Given the description of an element on the screen output the (x, y) to click on. 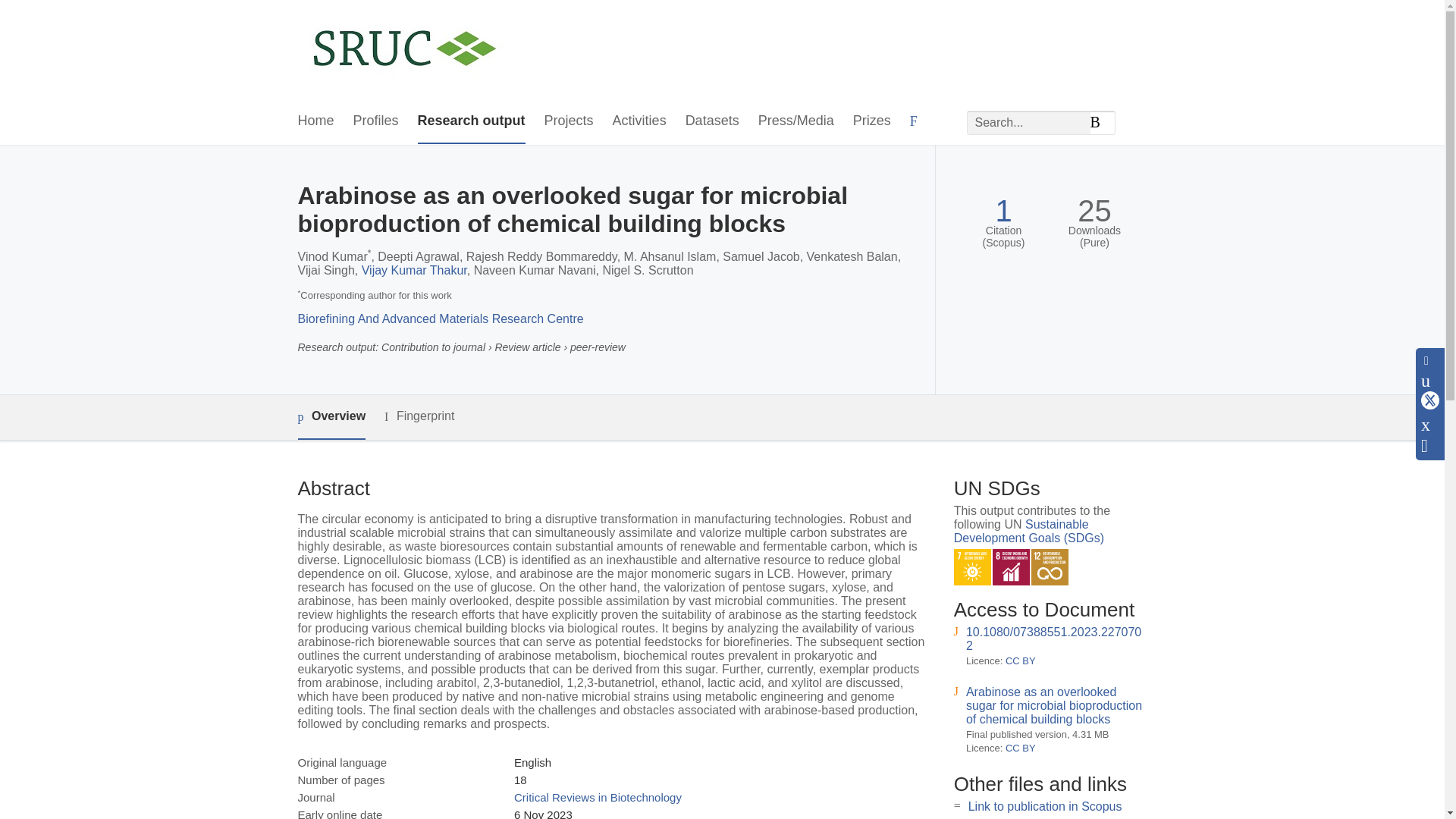
CC BY (1020, 747)
Projects (569, 121)
Fingerprint (419, 416)
Activities (639, 121)
SRUC, Scotland's Rural College Home (404, 49)
Datasets (712, 121)
SDG 7 - Affordable and Clean Energy (972, 567)
Biorefining And Advanced Materials Research Centre (440, 318)
Critical Reviews in Biotechnology (597, 797)
SDG 8 - Decent Work and Economic Growth (1010, 567)
Link to publication in Scopus (1045, 806)
Overview (331, 416)
SDG 12 - Responsible Consumption and Production (1049, 567)
CC BY (1020, 660)
